Given the description of an element on the screen output the (x, y) to click on. 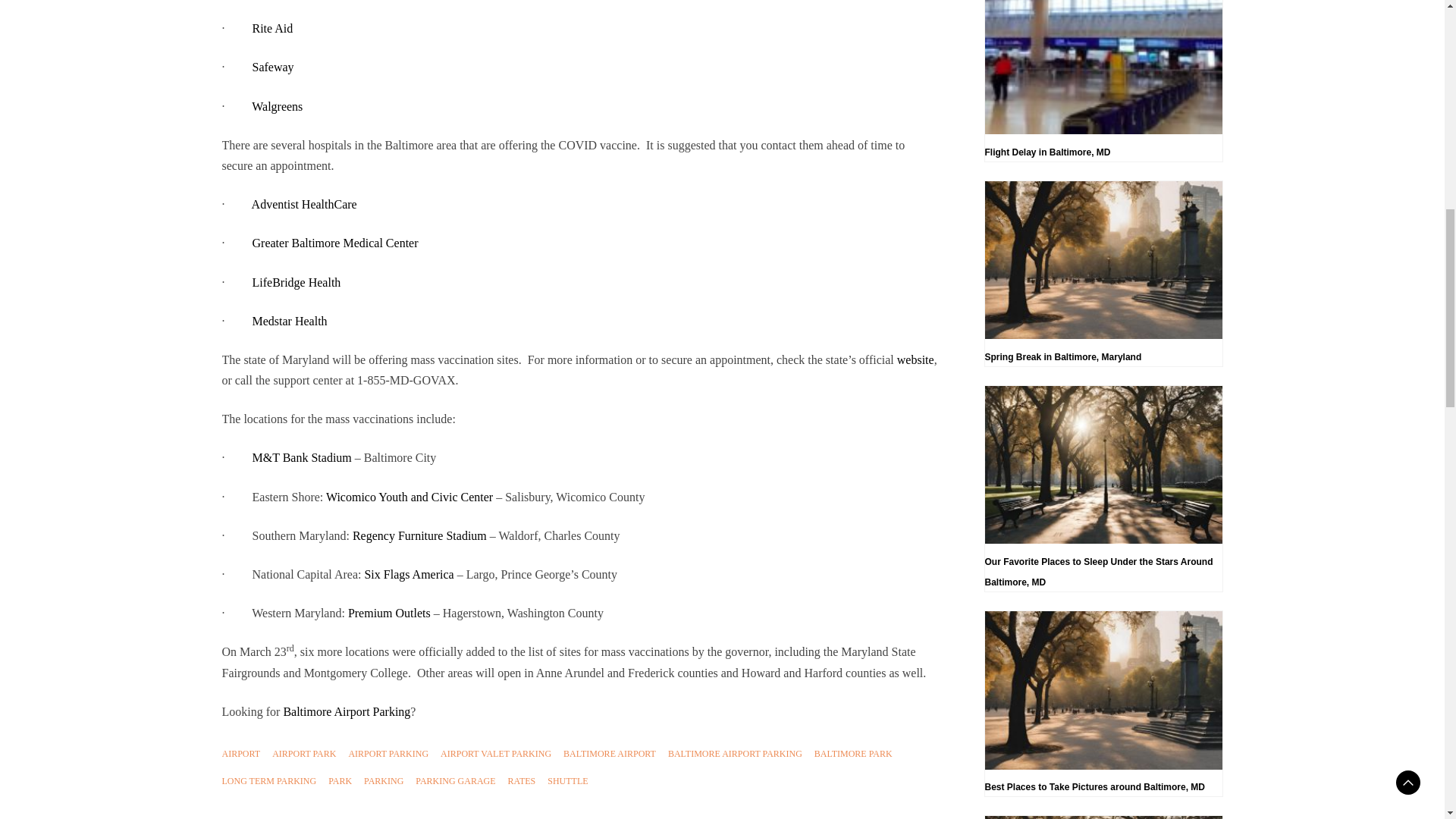
 Medstar Health (287, 320)
SHUTTLE (567, 780)
 Walgreens (275, 106)
 Adventist HealthCare (302, 204)
PARKING GARAGE (454, 780)
AIRPORT PARKING (387, 753)
RATES (521, 780)
PARK (340, 780)
 Rite Aid (270, 28)
Regency Furniture Stadium (417, 535)
